Given the description of an element on the screen output the (x, y) to click on. 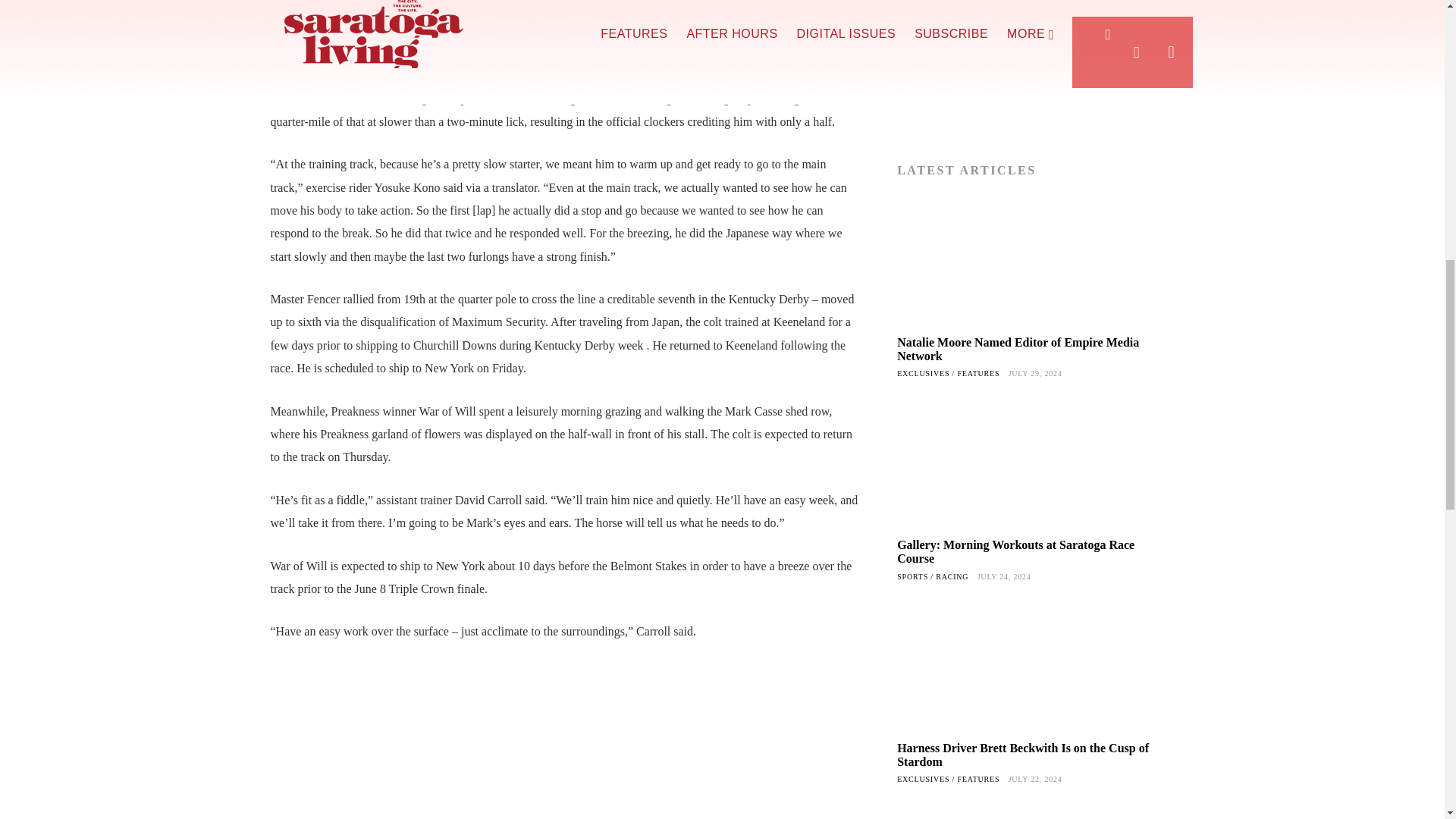
Gallery: Morning Workouts at Saratoga Race Course (1023, 464)
Natalie Moore Named Editor of Empire Media Network (1017, 348)
Gallery: Morning Workouts at Saratoga Race Course (1015, 551)
Gallery: Morning Workouts at Saratoga Race Course (1015, 551)
Harness Driver Brett Beckwith Is on the Cusp of Stardom (1022, 755)
Natalie Moore Named Editor of Empire Media Network (1017, 348)
Natalie Moore Named Editor of Empire Media Network (1023, 262)
